Given the description of an element on the screen output the (x, y) to click on. 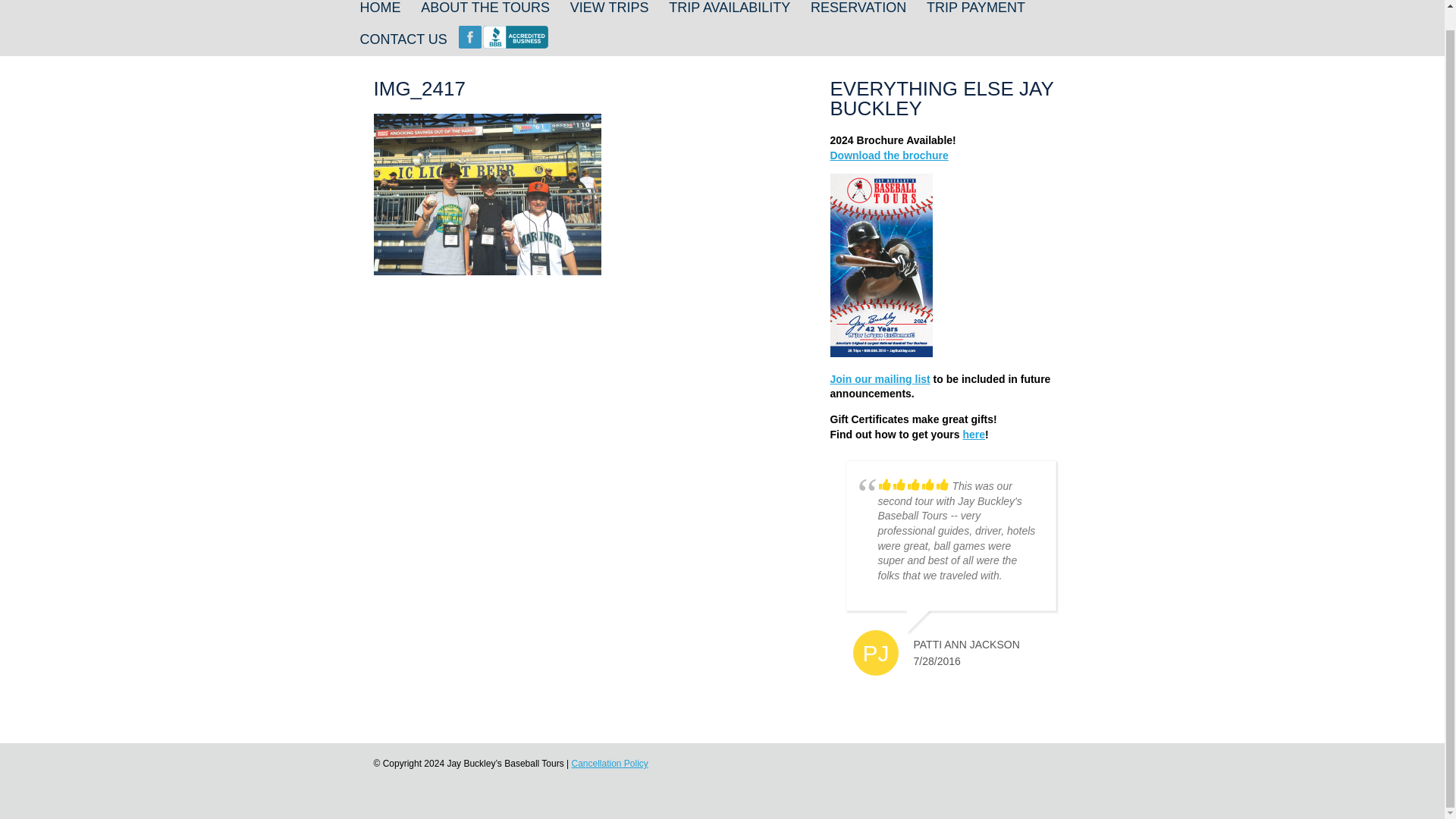
CONTACT US (402, 37)
TRIP AVAILABILITY (729, 9)
HOME (379, 9)
ABOUT THE TOURS (485, 9)
TRIP PAYMENT (975, 9)
VIEW TRIPS (609, 9)
RESERVATION (858, 9)
